Given the description of an element on the screen output the (x, y) to click on. 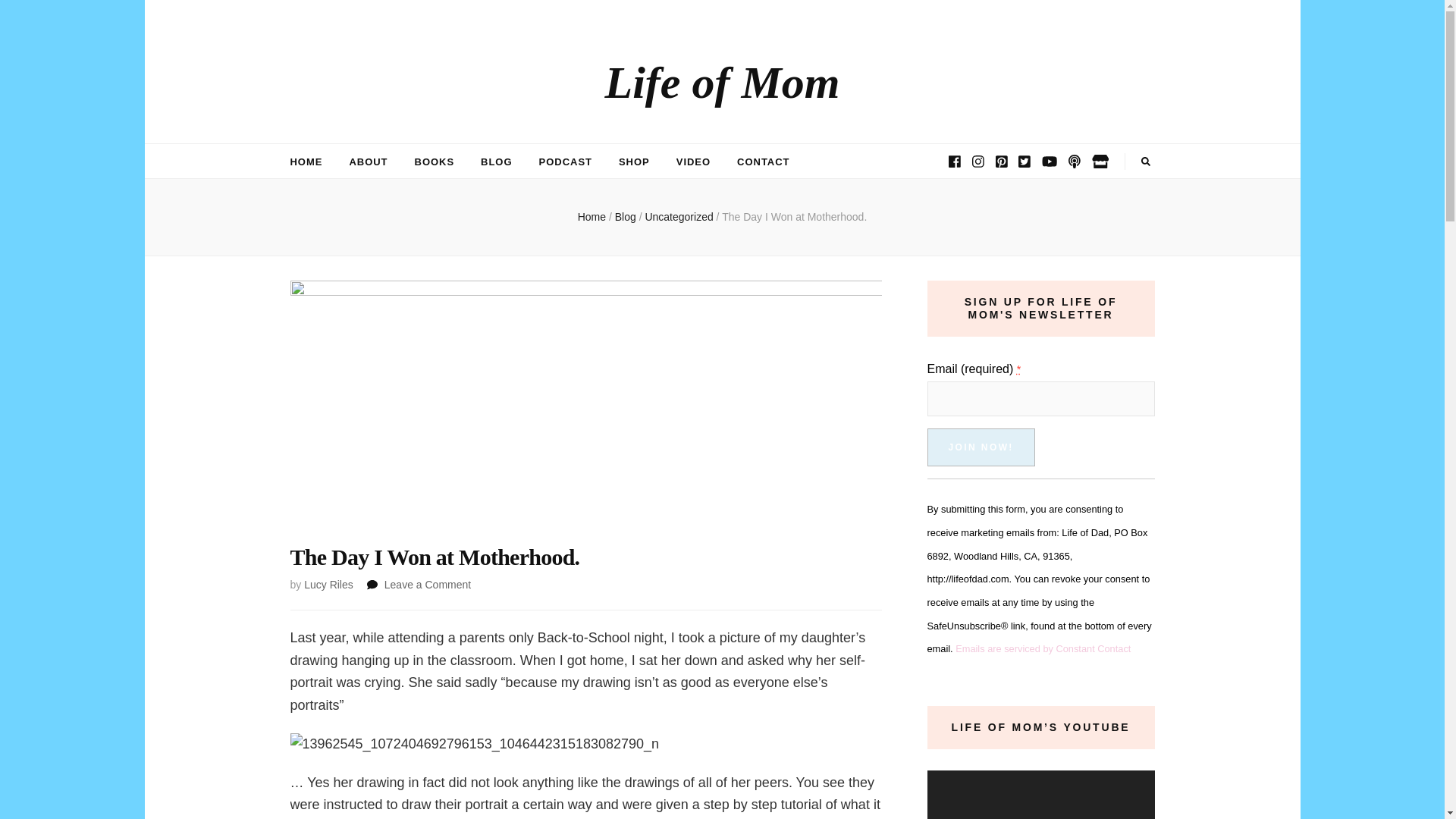
VIDEO (693, 161)
Blog (626, 216)
SHOP (633, 161)
Life of Mom (722, 82)
CONTACT (762, 161)
BOOKS (434, 161)
Emails are serviced by Constant Contact (1043, 648)
BLOG (496, 161)
Join Now! (979, 447)
The Day I Won at Motherhood. (794, 216)
PODCAST (565, 161)
HOME (427, 584)
Join Now! (305, 161)
Uncategorized (979, 447)
